Given the description of an element on the screen output the (x, y) to click on. 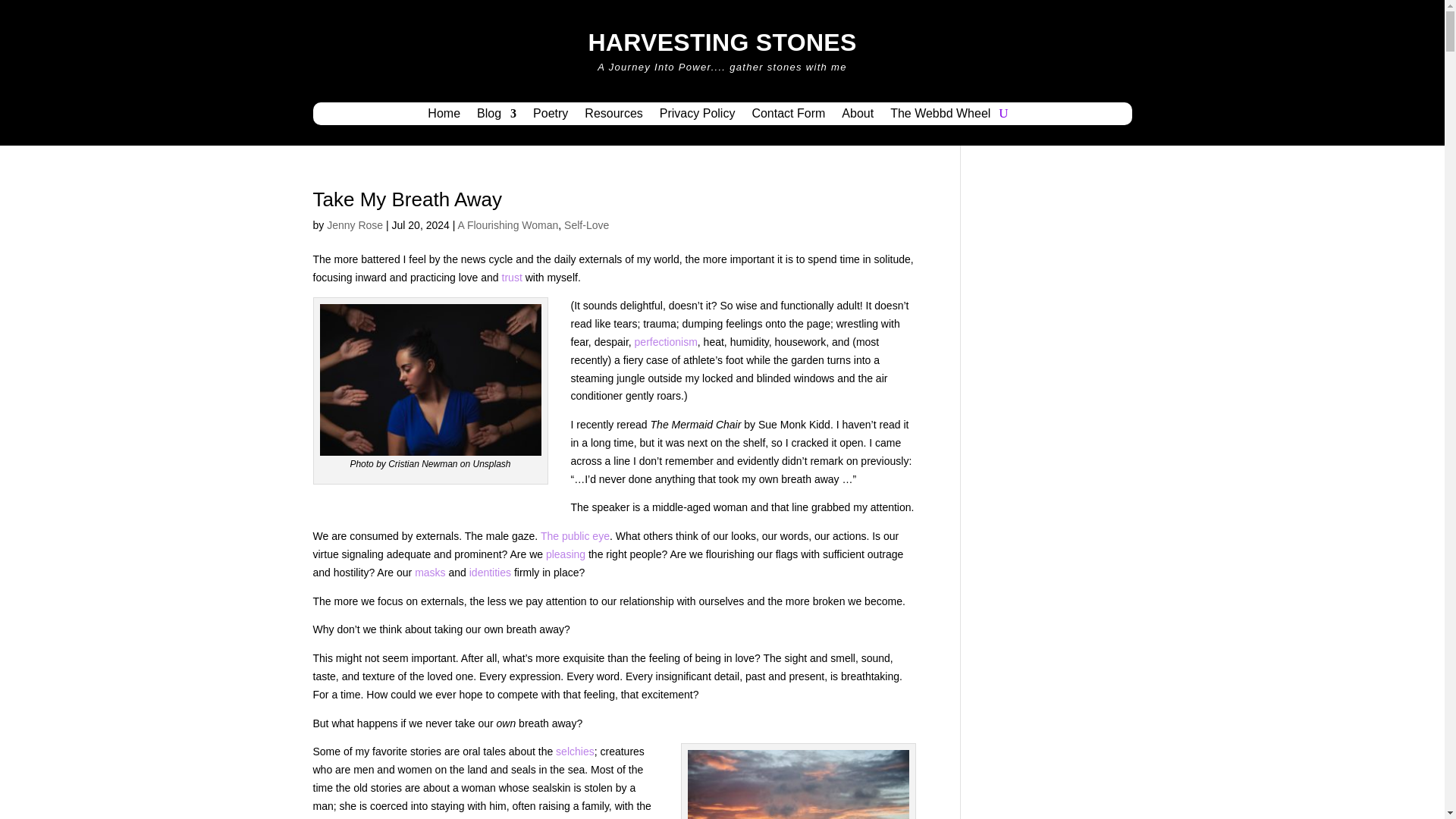
Blog (496, 116)
Posts by Jenny Rose (354, 224)
Poetry (549, 116)
Home (444, 116)
Contact Form (788, 116)
The Webbd Wheel (939, 116)
About (857, 116)
Privacy Policy (697, 116)
Resources (613, 116)
